Given the description of an element on the screen output the (x, y) to click on. 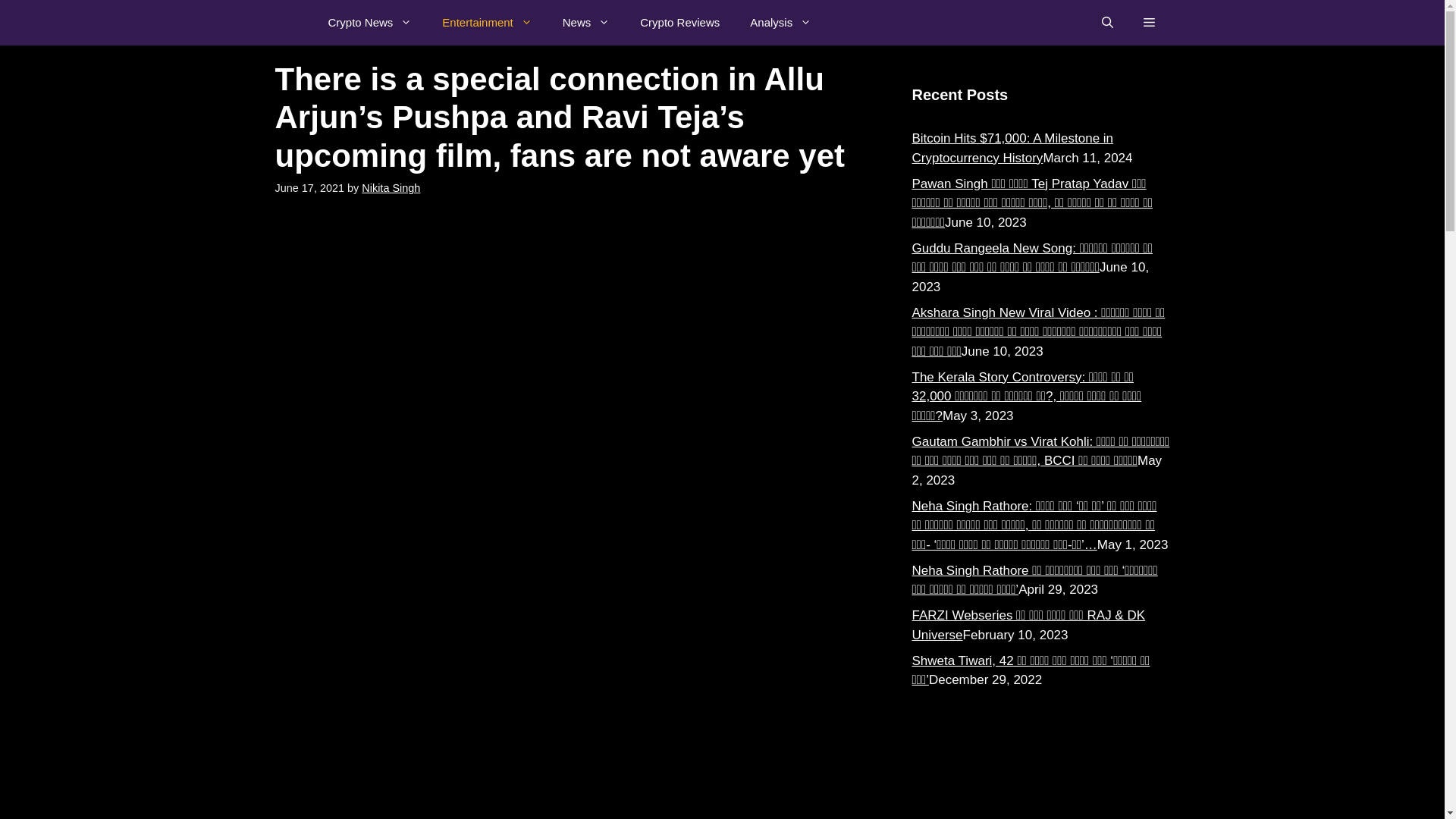
Crypto News (369, 22)
View all posts by Nikita Singh (390, 187)
Entertainment (486, 22)
